Given the description of an element on the screen output the (x, y) to click on. 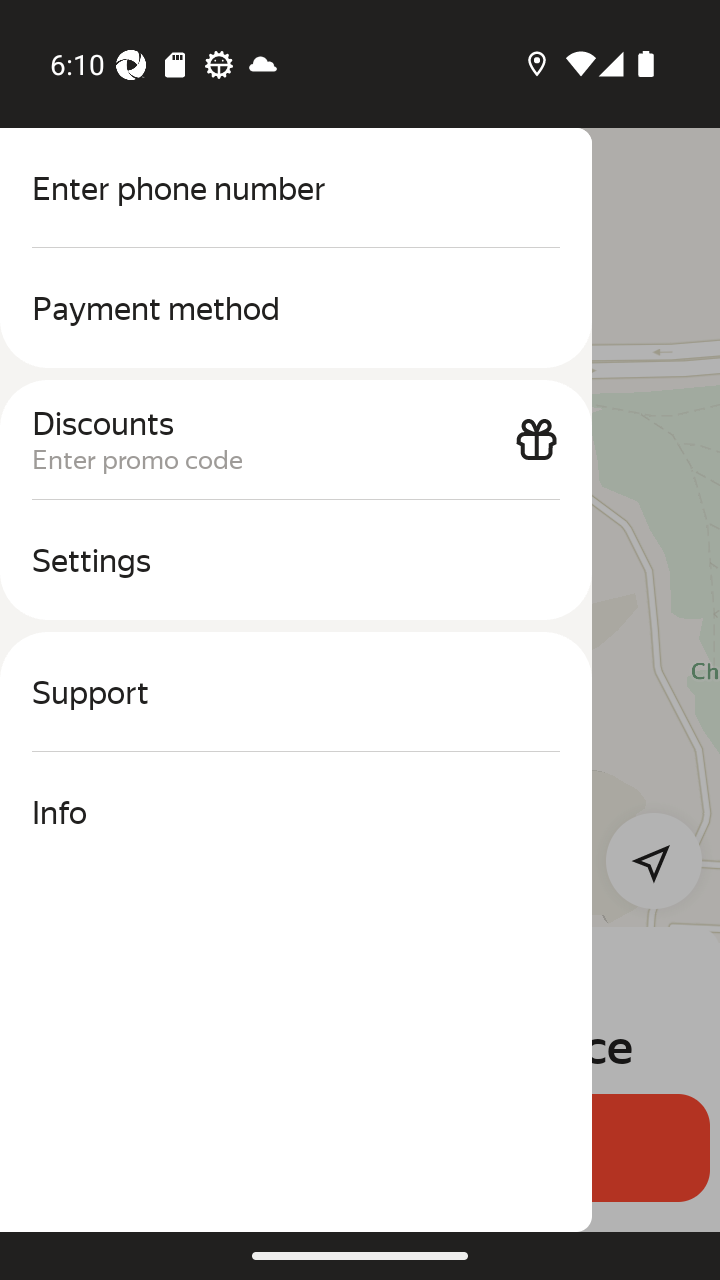
Enter phone number (295, 188)
Payment method (295, 308)
Settings (295, 559)
Support (295, 692)
Info (295, 811)
